Given the description of an element on the screen output the (x, y) to click on. 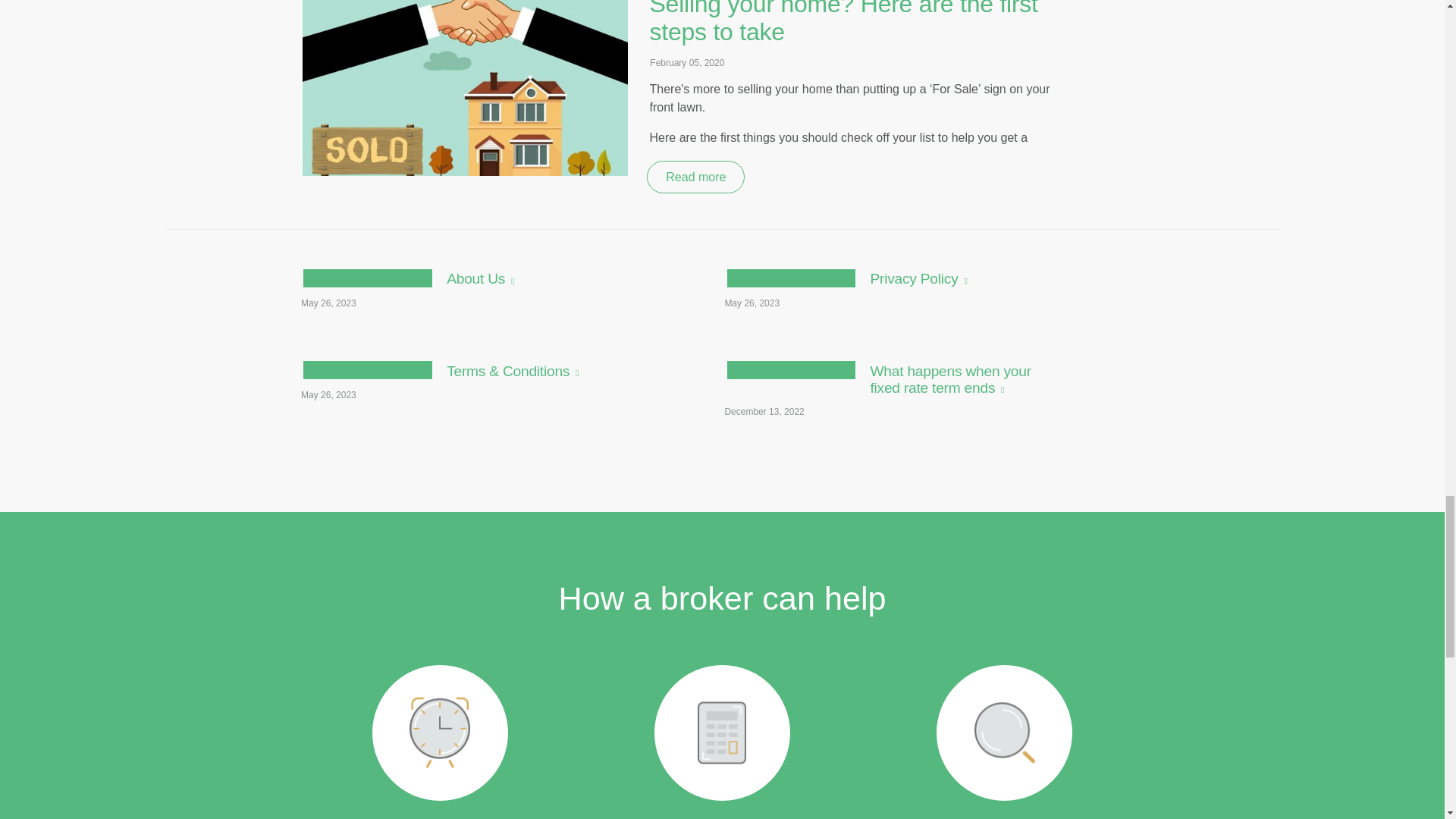
Selling your home? Here are the first steps to take (848, 22)
Read more (890, 293)
